Given the description of an element on the screen output the (x, y) to click on. 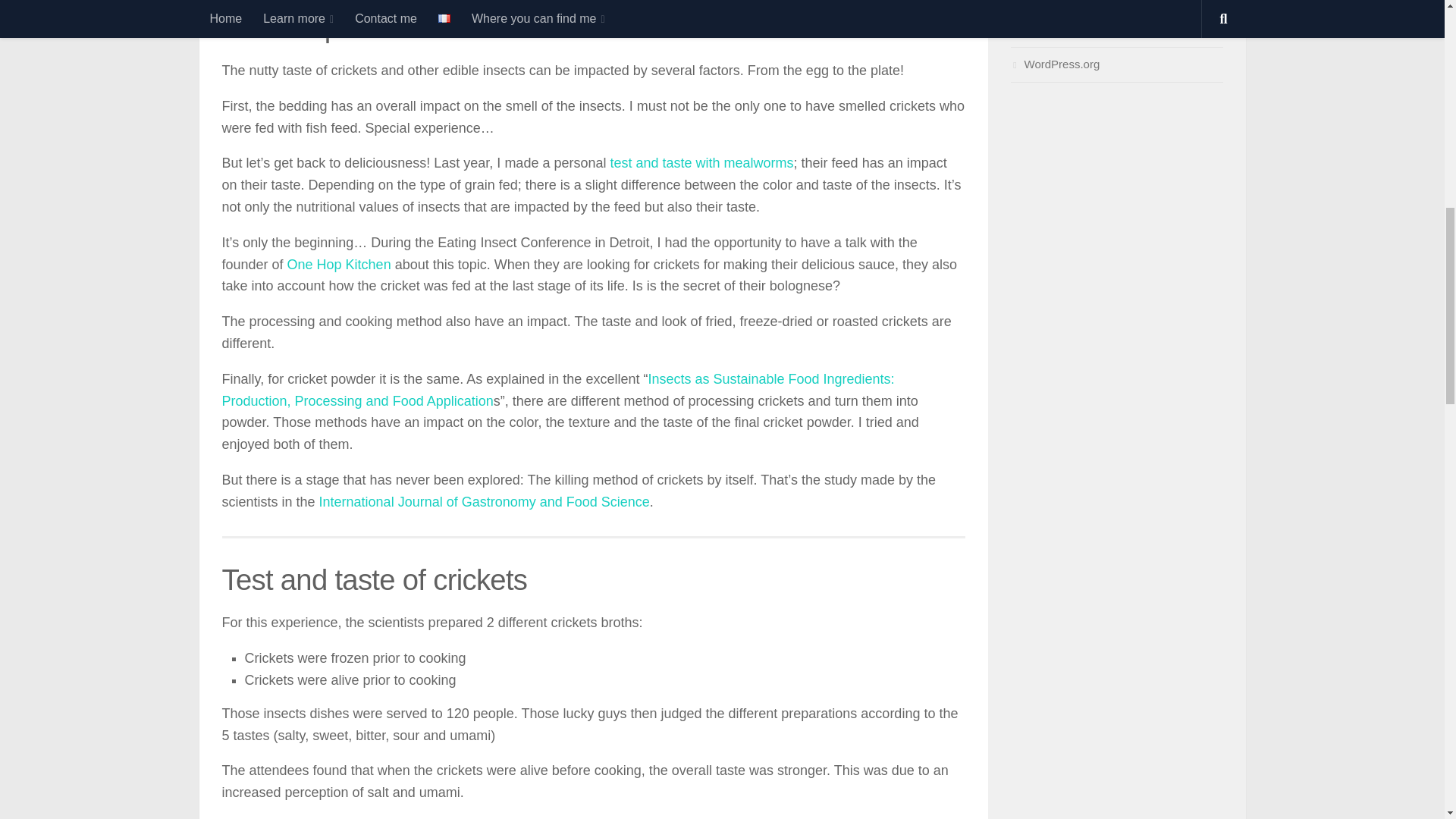
test and taste with mealworms (701, 162)
One Hop Kitchen (338, 264)
International Journal of Gastronomy and Food Science (483, 501)
